Given the description of an element on the screen output the (x, y) to click on. 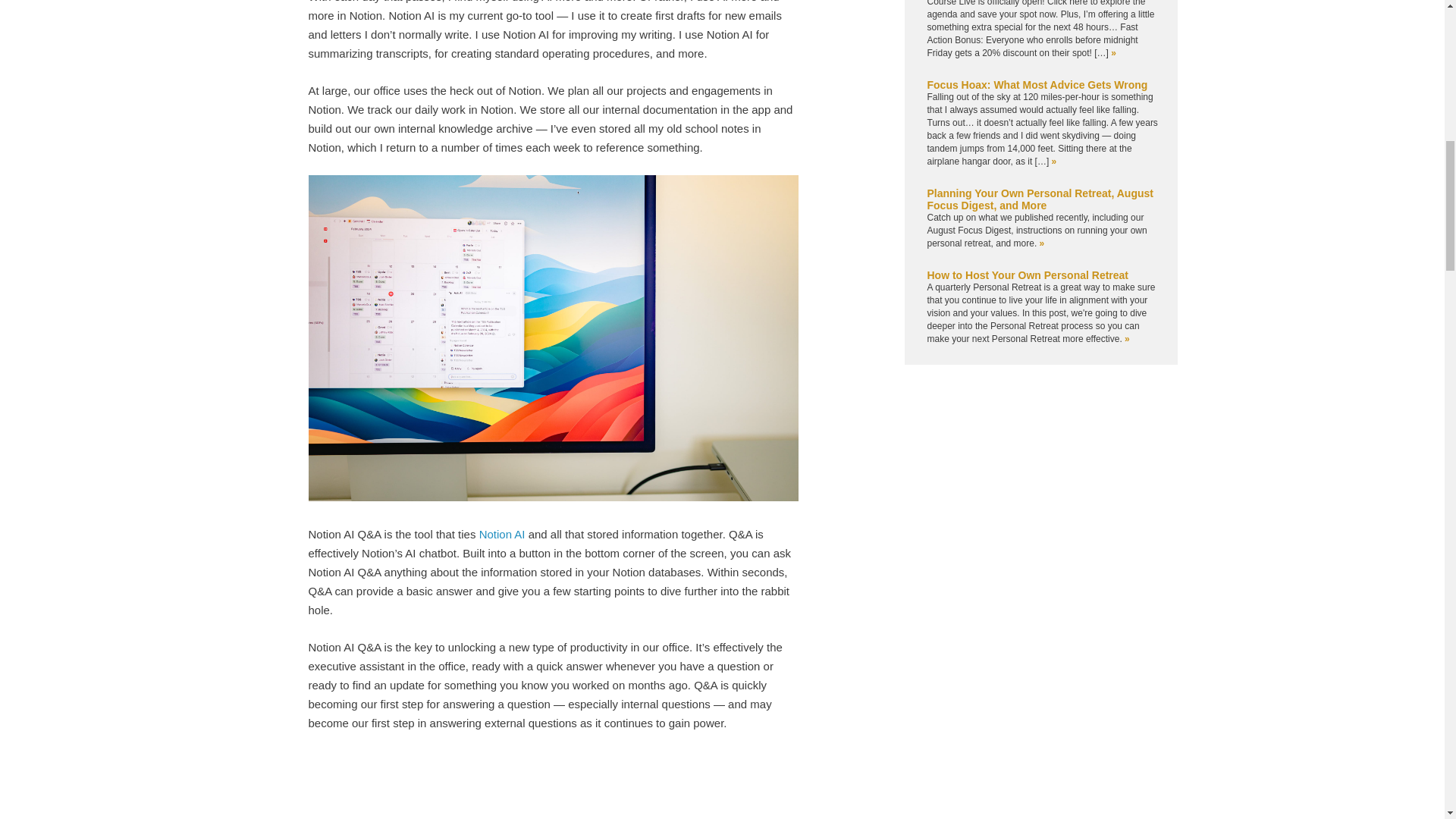
Focus Hoax: What Most Advice Gets Wrong (1036, 84)
Notion AI (502, 533)
How to Host Your Own Personal Retreat (1027, 275)
